Given the description of an element on the screen output the (x, y) to click on. 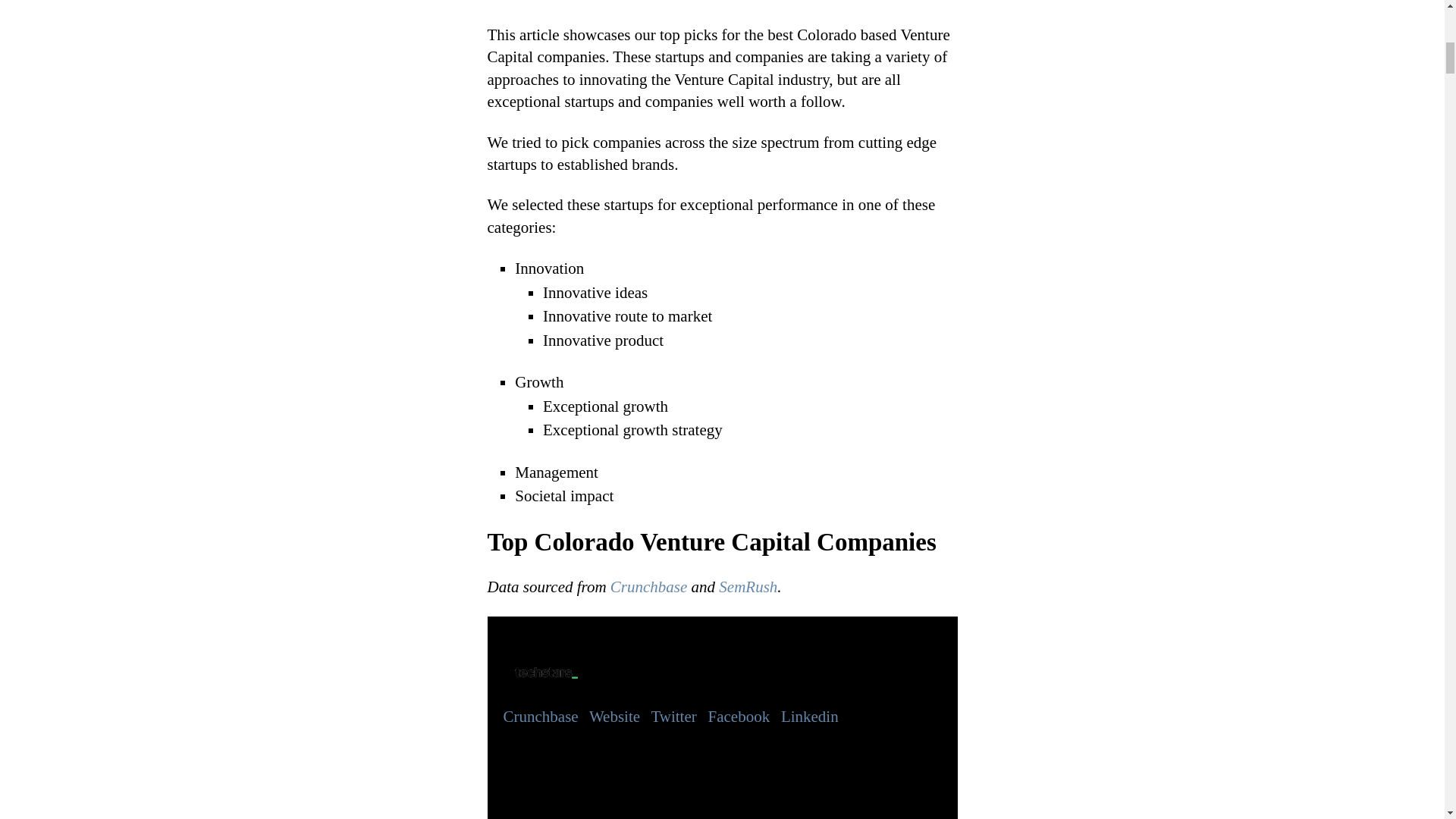
Crunchbase (648, 587)
SemRush (748, 587)
WELP MAGAZINE (532, 4)
24 Feb, 2021 12:18:28 (610, 1)
